Given the description of an element on the screen output the (x, y) to click on. 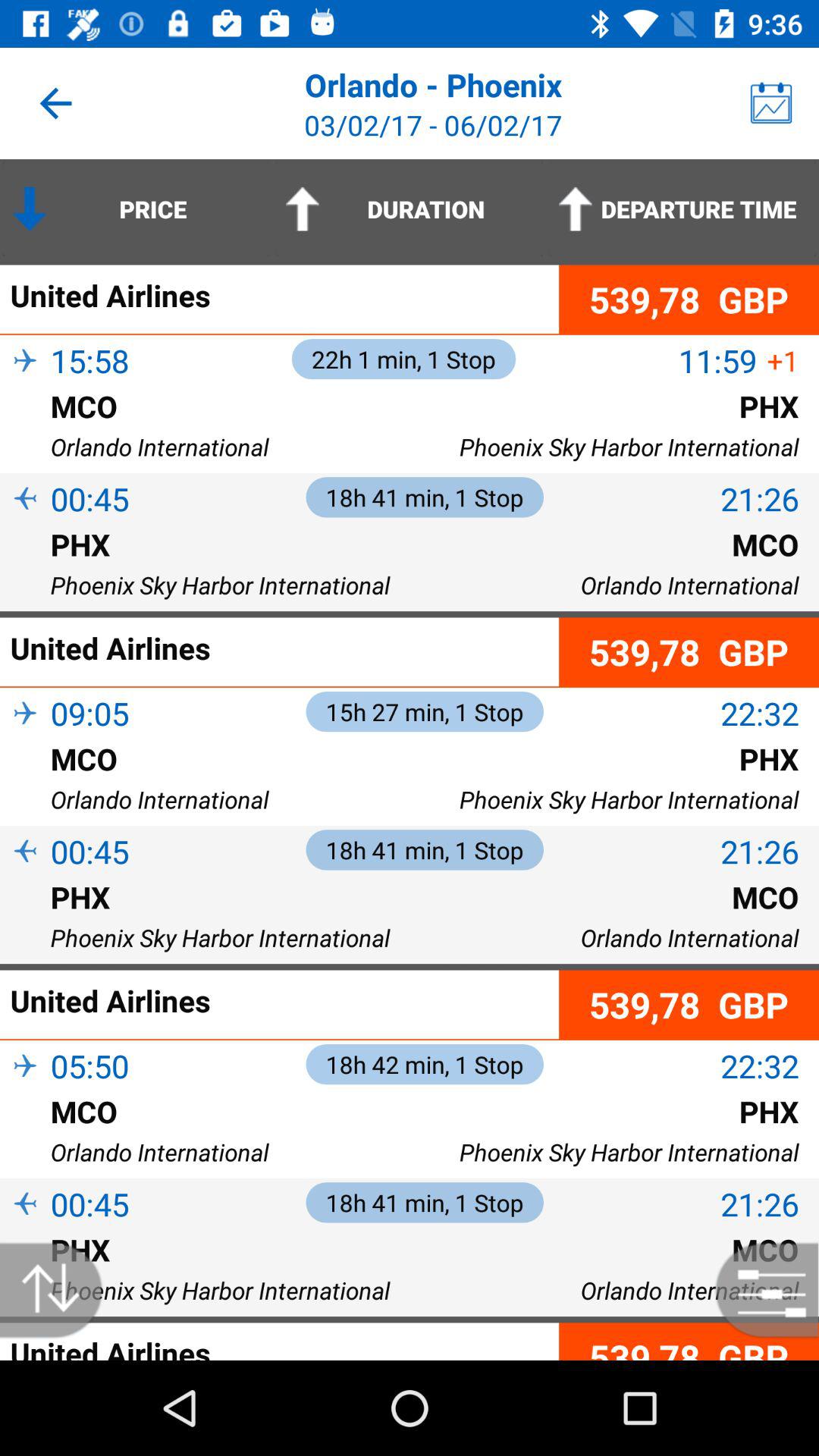
choose the item above orlando international (25, 1135)
